Given the description of an element on the screen output the (x, y) to click on. 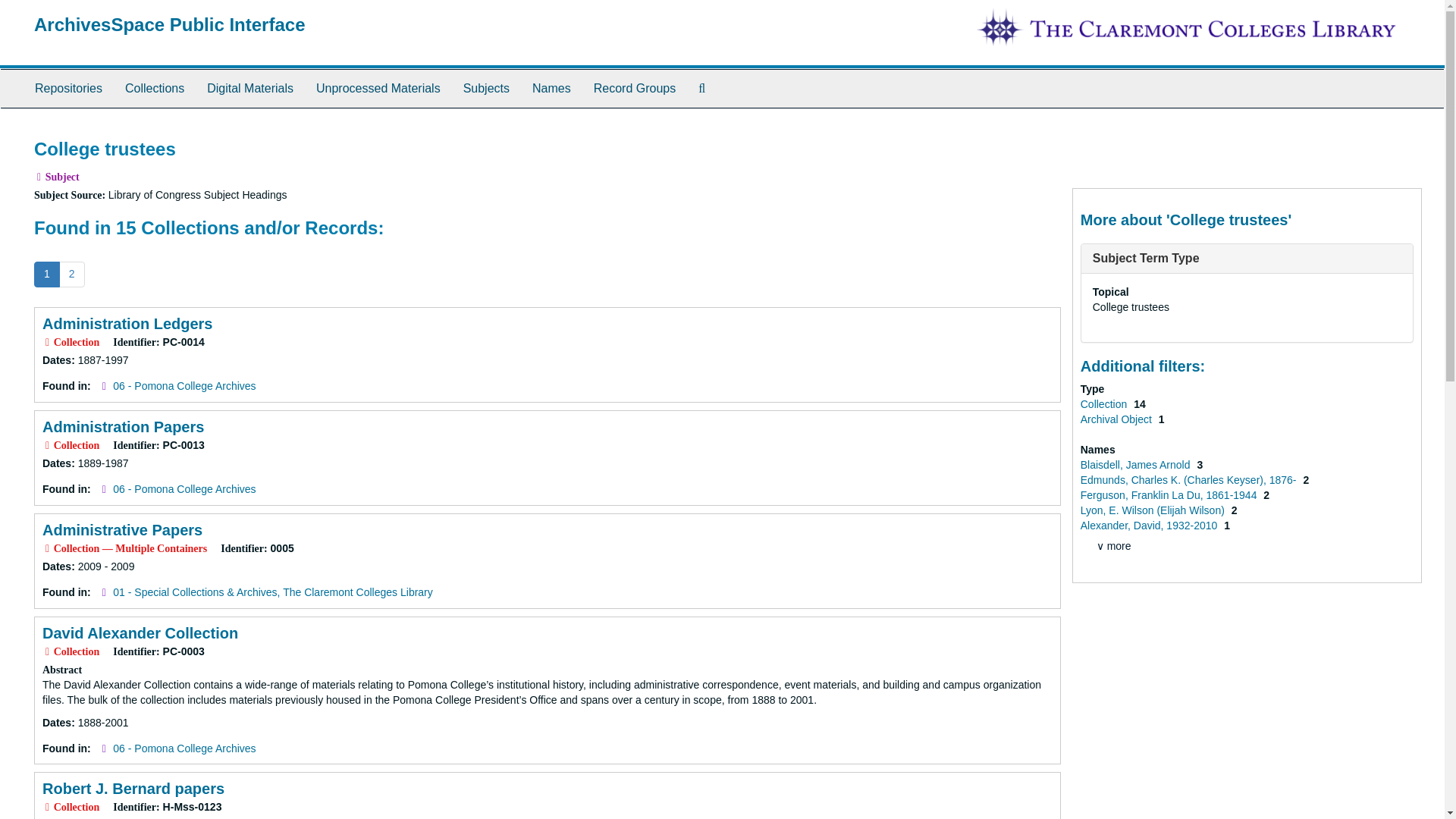
Digital Materials (249, 88)
Page Actions (1130, 131)
Subjects (486, 88)
ArchivesSpace Public Interface (169, 24)
1 (46, 274)
Administrative Papers (122, 529)
Subject Term Type (1146, 257)
Administration Ledgers (127, 323)
06 - Pomona College Archives (184, 386)
2 (71, 274)
David Alexander Collection (140, 632)
Filter By 'Collection' (1104, 404)
Administration Papers (122, 426)
Robert J. Bernard papers (133, 788)
Return to the ArchivesSpace homepage (169, 24)
